Given the description of an element on the screen output the (x, y) to click on. 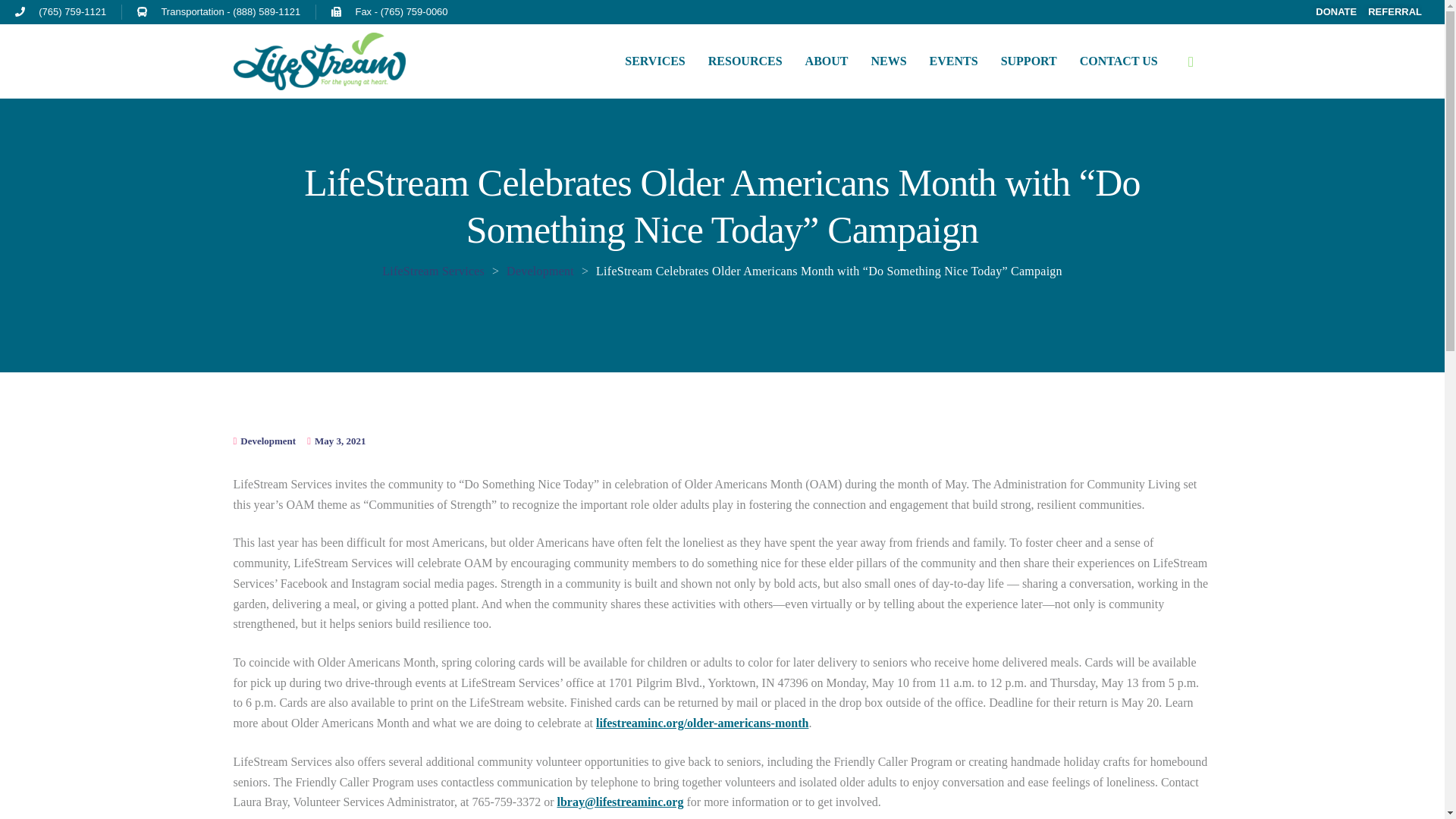
Go to the Development Category archives. (539, 270)
REFERRAL (1389, 12)
DONATE (1330, 12)
RESOURCES (745, 61)
Go to LifeStream Services. (433, 270)
CONTACT US (1118, 61)
